Given the description of an element on the screen output the (x, y) to click on. 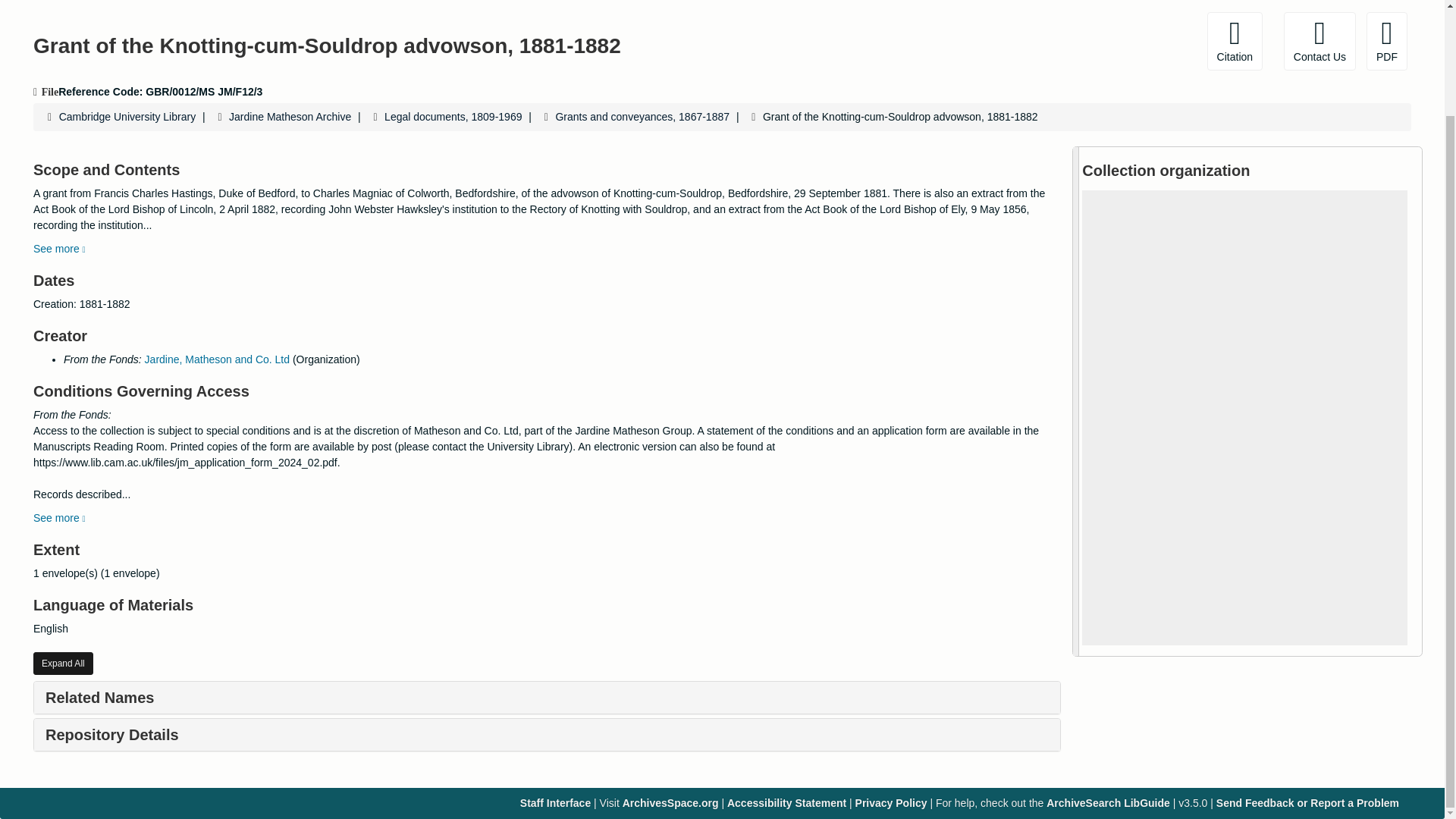
Cambridge University Library (127, 116)
ArchivesSpace.org (671, 802)
See more (59, 248)
Grants and conveyances, 1867-1887 (641, 116)
Accessibility Statement (785, 802)
Legal documents, 1809-1969 (452, 116)
Jardine, Matheson and Co. Ltd (216, 358)
Privacy Policy (891, 802)
Citation (1234, 41)
Related Names (99, 697)
